Given the description of an element on the screen output the (x, y) to click on. 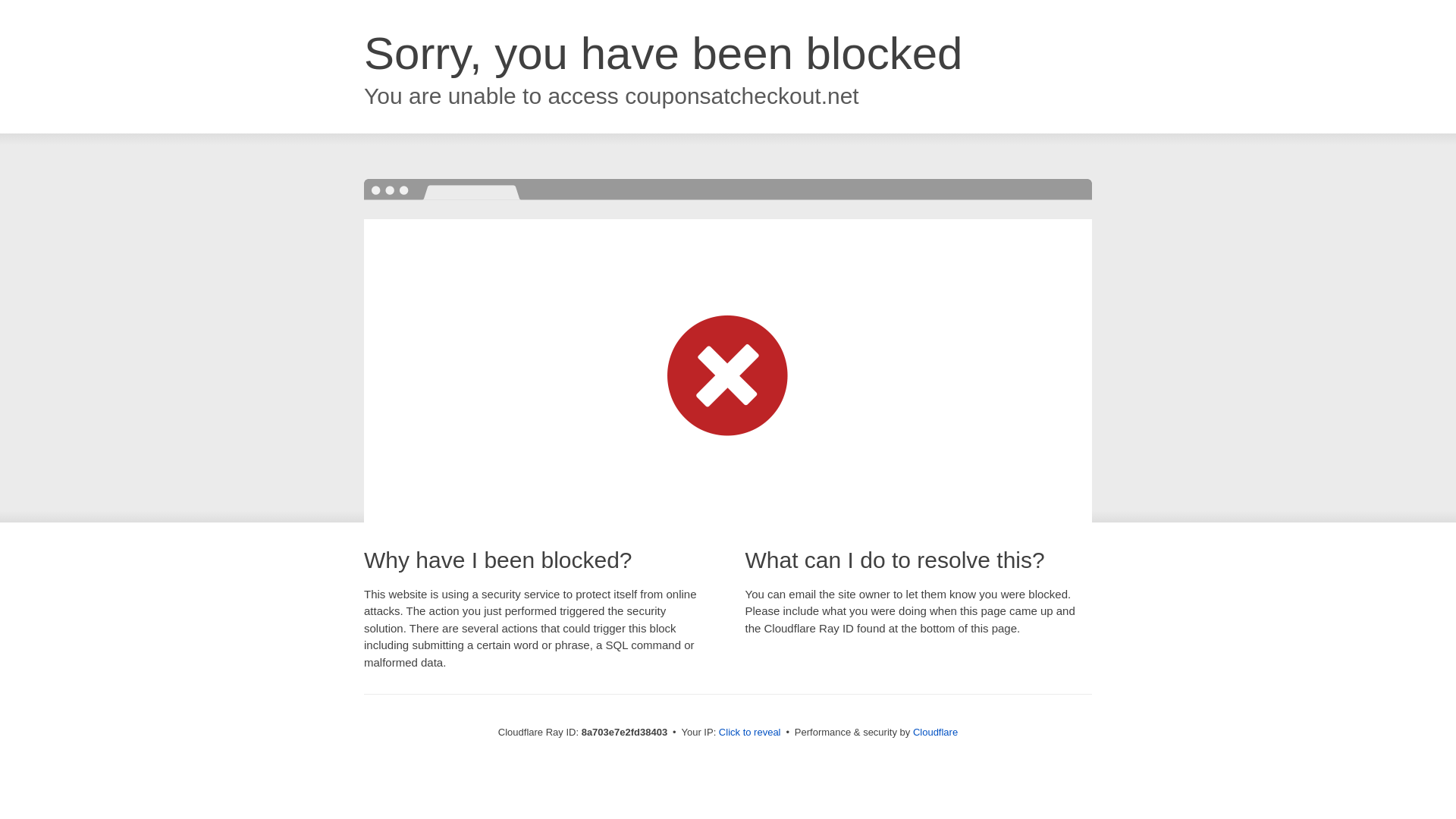
Cloudflare (935, 731)
Click to reveal (749, 732)
